Given the description of an element on the screen output the (x, y) to click on. 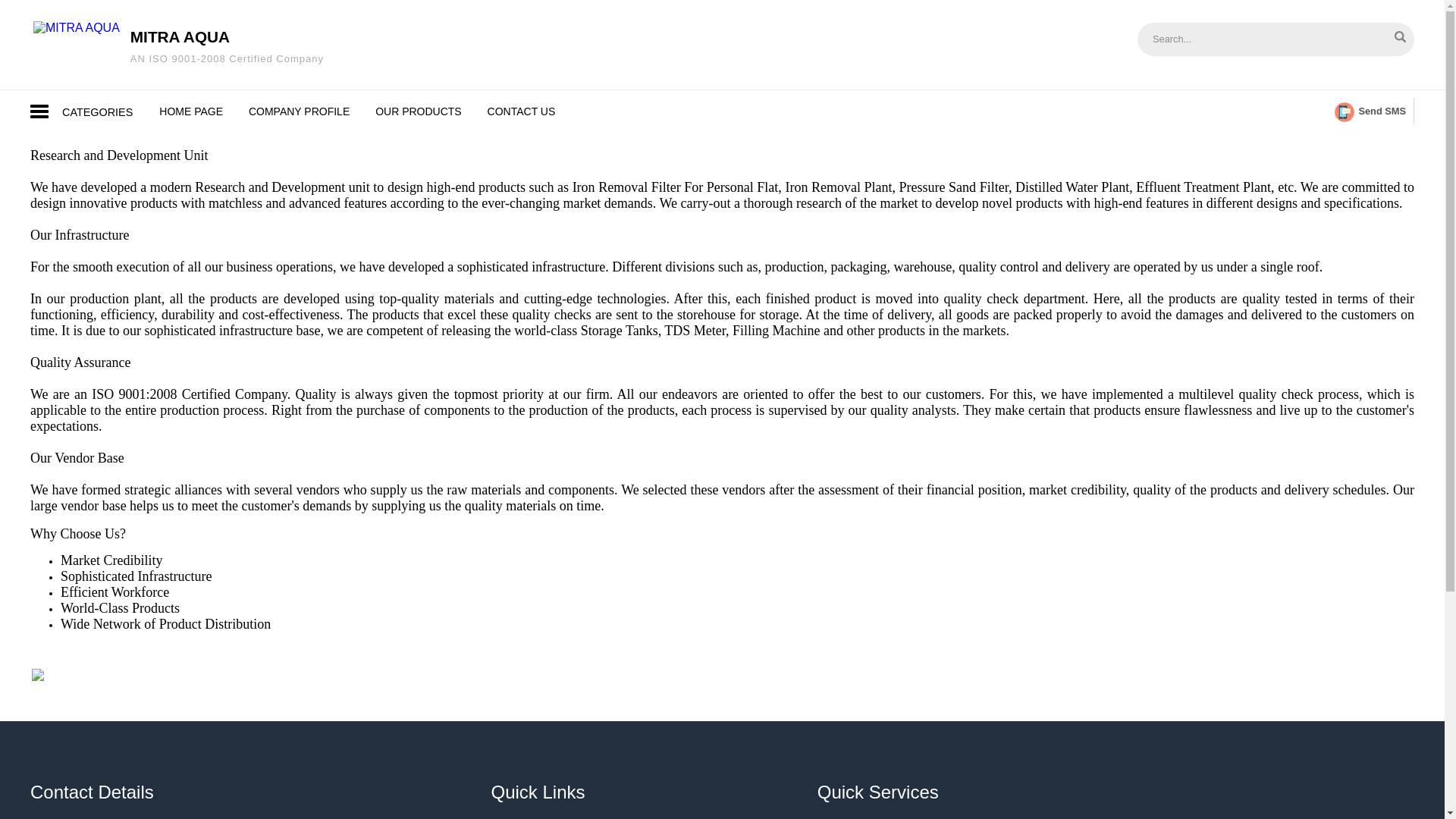
COMPANY PROFILE (299, 111)
Contact Us (227, 46)
Search... (521, 111)
CONTACT US (1254, 38)
HOME PAGE (521, 111)
OUR PRODUCTS (191, 111)
Send SMS (418, 111)
